Given the description of an element on the screen output the (x, y) to click on. 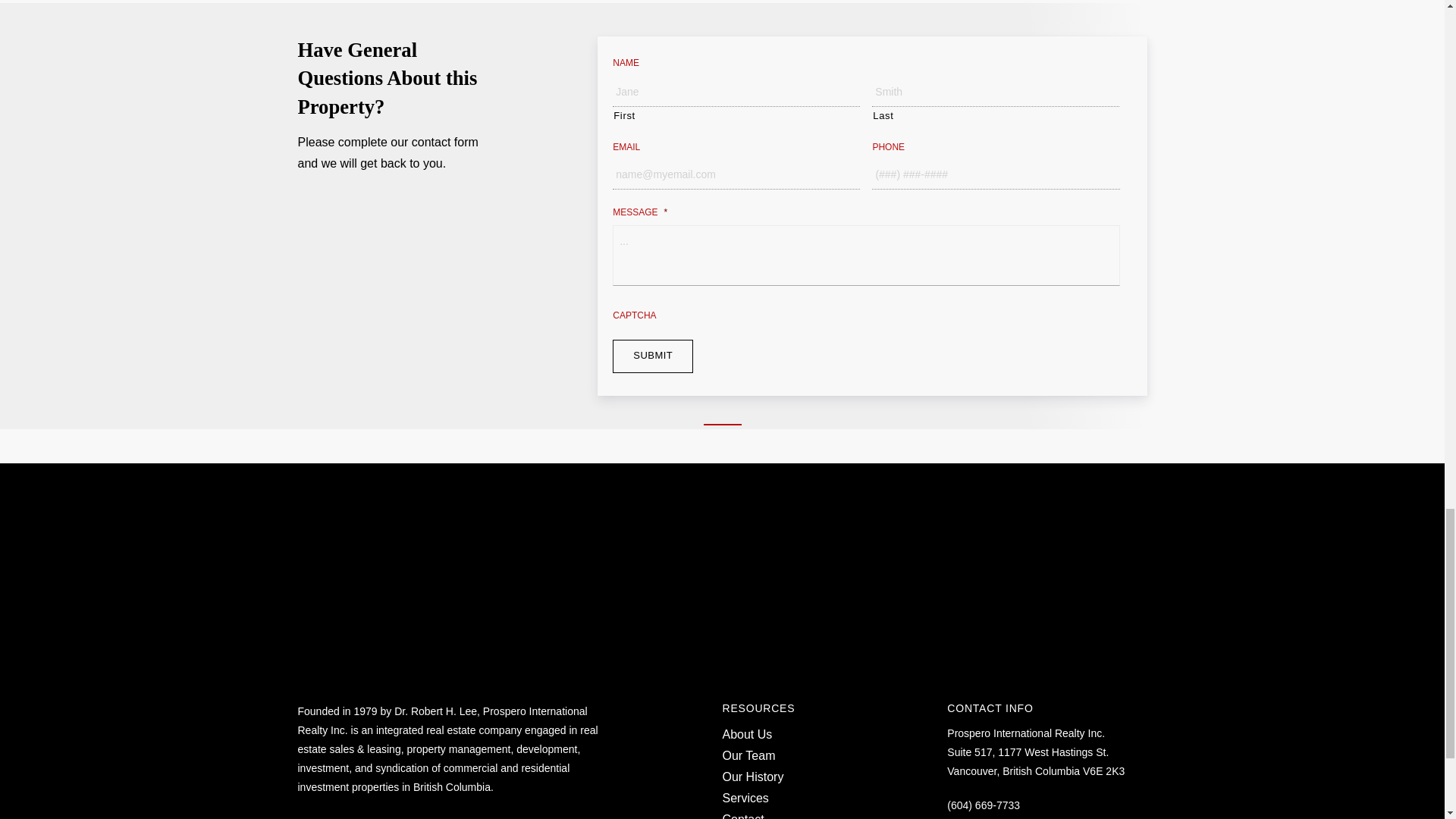
Submit (652, 356)
Services (745, 797)
Our History (752, 776)
Our Team (748, 755)
Contact (742, 816)
Submit (652, 356)
About Us (746, 734)
